Given the description of an element on the screen output the (x, y) to click on. 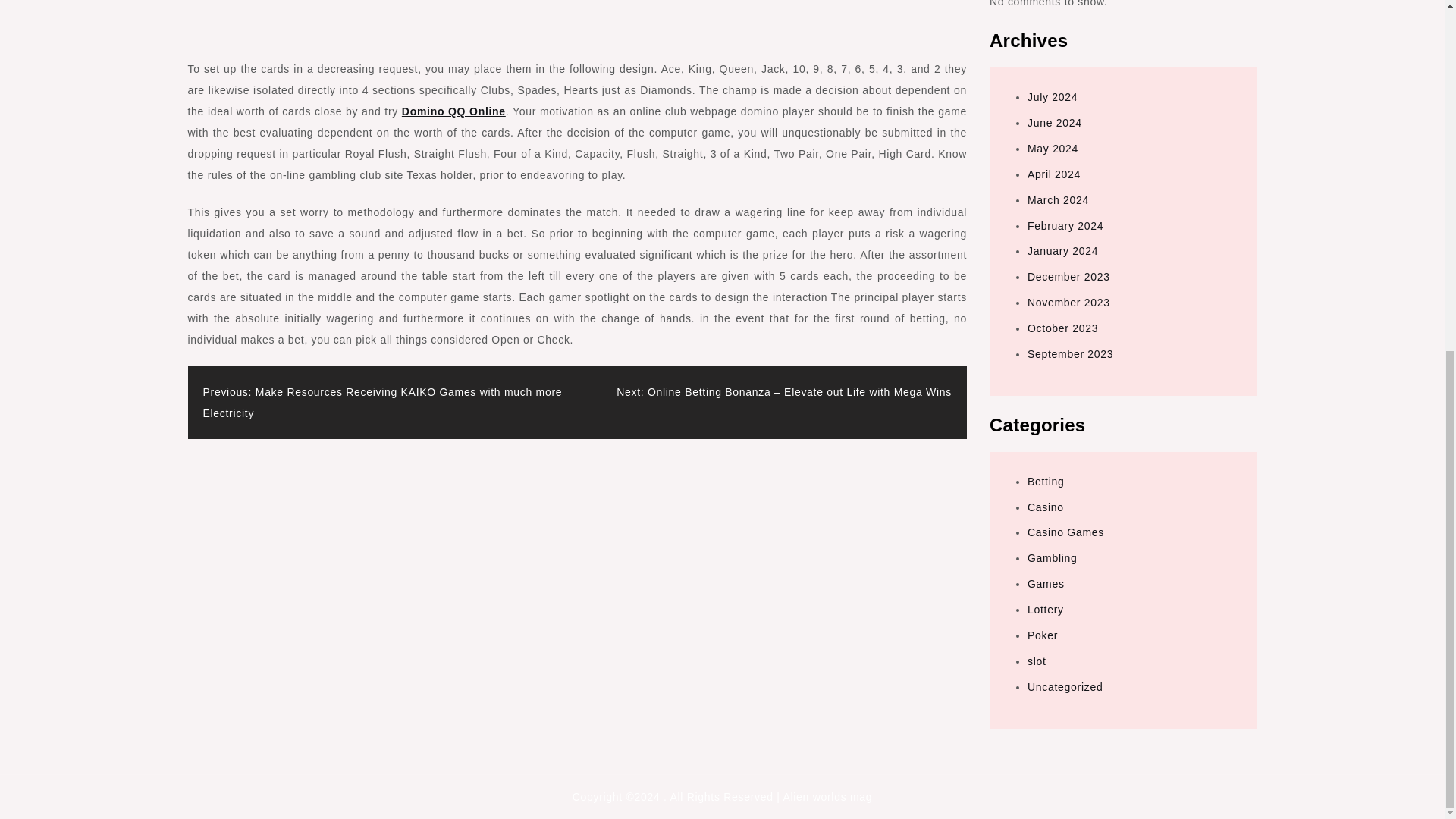
July 2024 (1052, 96)
January 2024 (1062, 250)
September 2023 (1070, 354)
Games (1045, 583)
Domino QQ Online (453, 111)
slot (1036, 661)
Lottery (1045, 609)
June 2024 (1054, 122)
October 2023 (1062, 328)
Uncategorized (1064, 686)
